Given the description of an element on the screen output the (x, y) to click on. 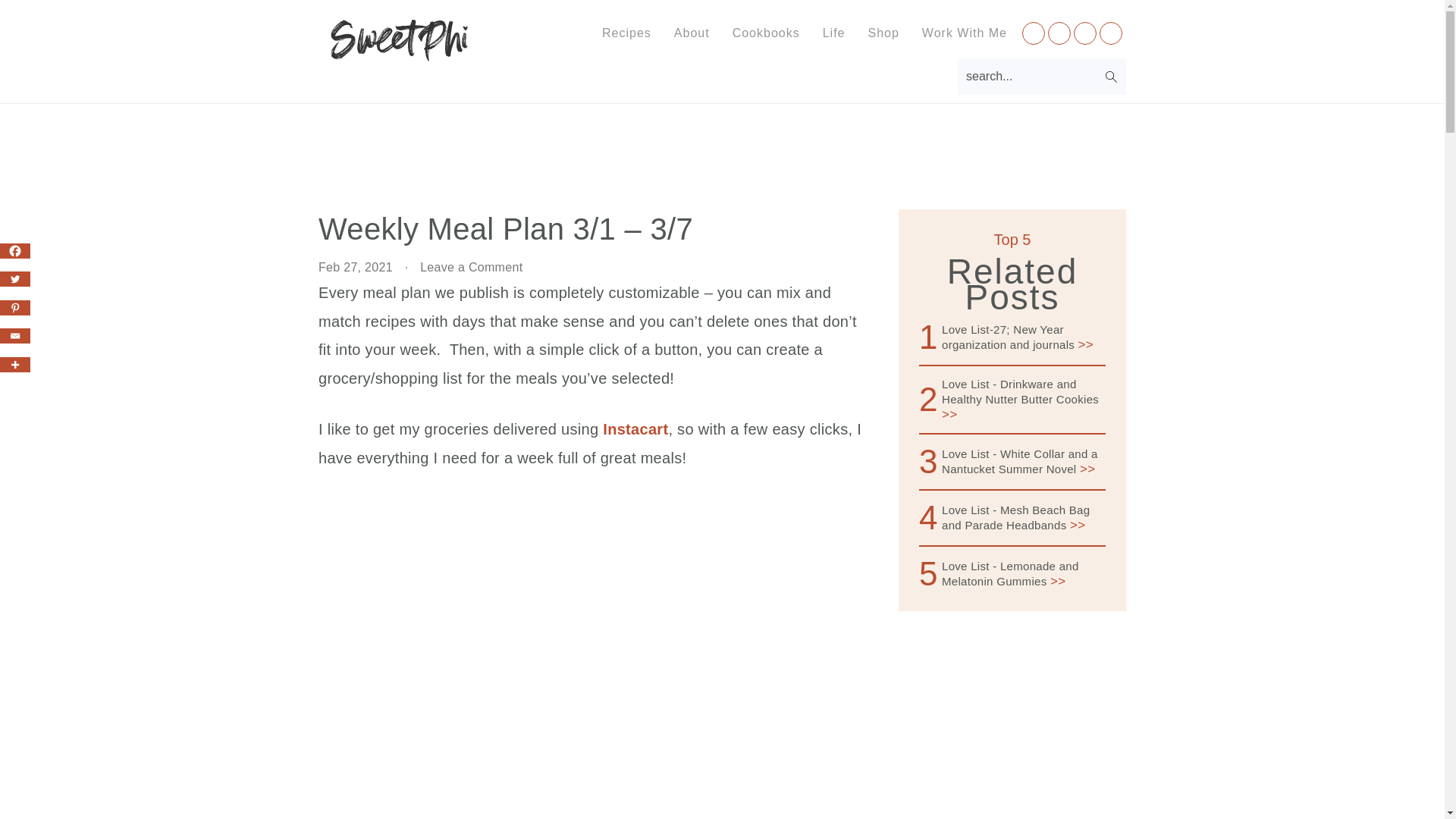
Sweetphi (399, 50)
Twitter (15, 278)
Instacart (635, 428)
About (691, 33)
Life (833, 33)
Pinterest (15, 307)
Facebook (15, 250)
Email (15, 335)
Leave a Comment (471, 267)
More (15, 364)
Shop (883, 33)
Sweetphi (399, 40)
